Given the description of an element on the screen output the (x, y) to click on. 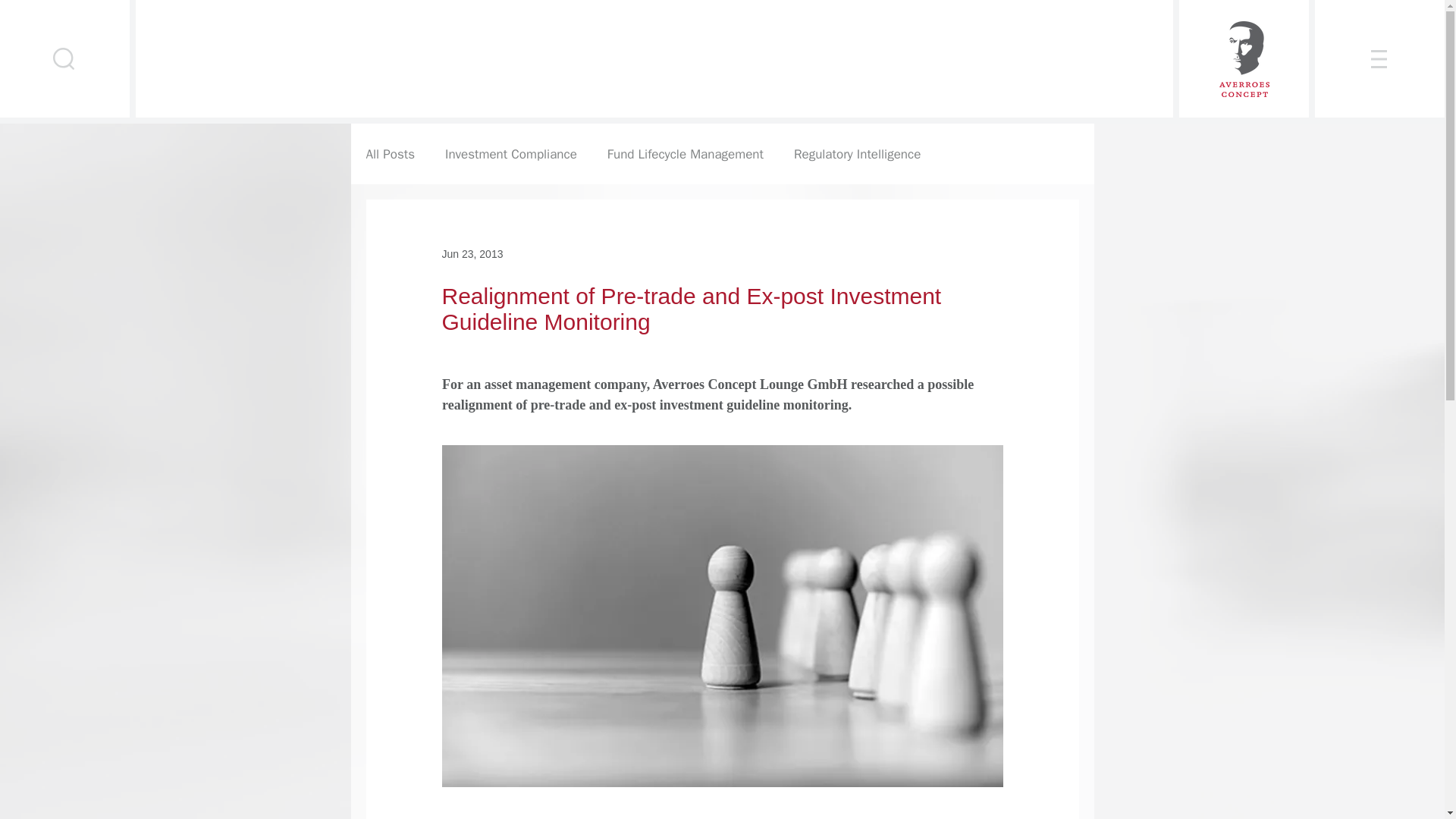
Fund Lifecycle Management (684, 153)
Investment Compliance (510, 153)
Jun 23, 2013 (471, 253)
All Posts (389, 153)
Regulatory Intelligence (856, 153)
